Given the description of an element on the screen output the (x, y) to click on. 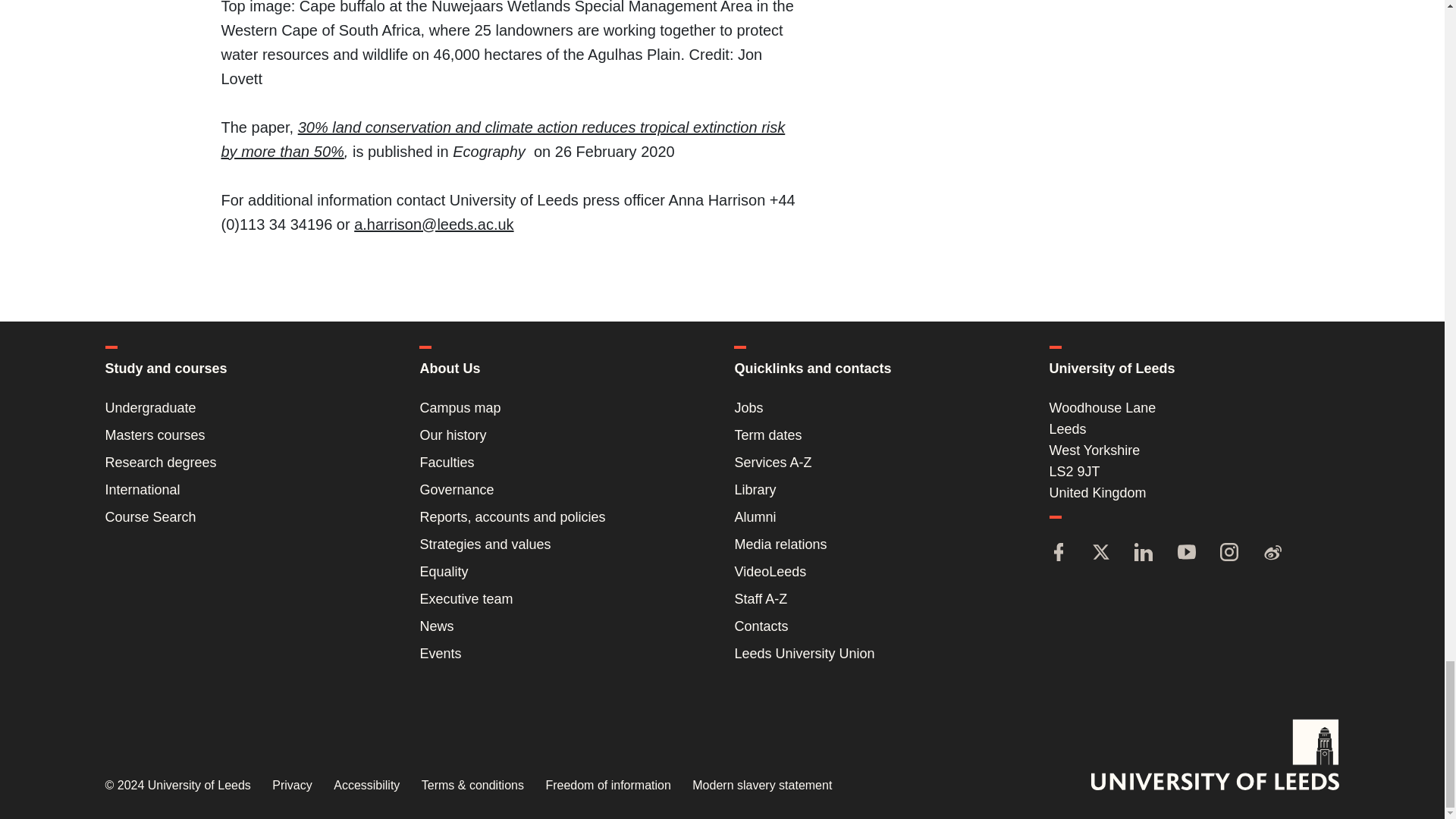
Go to Freedom of information page (606, 784)
Go to Modern slavery statement page (762, 784)
Go to Privacy page (291, 784)
Go to Accessibility page (365, 784)
